Given the description of an element on the screen output the (x, y) to click on. 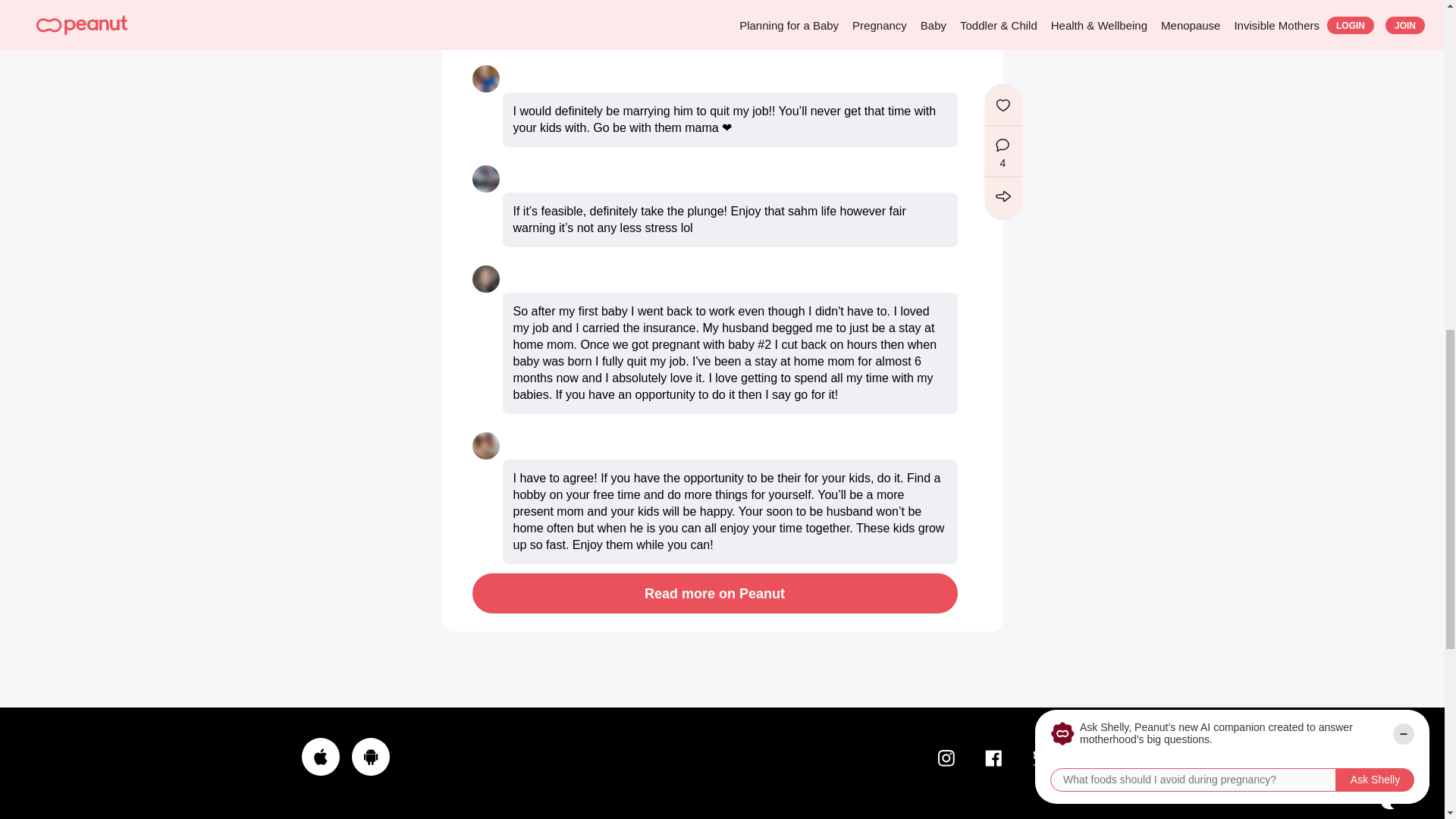
Read more on Peanut (713, 593)
